Given the description of an element on the screen output the (x, y) to click on. 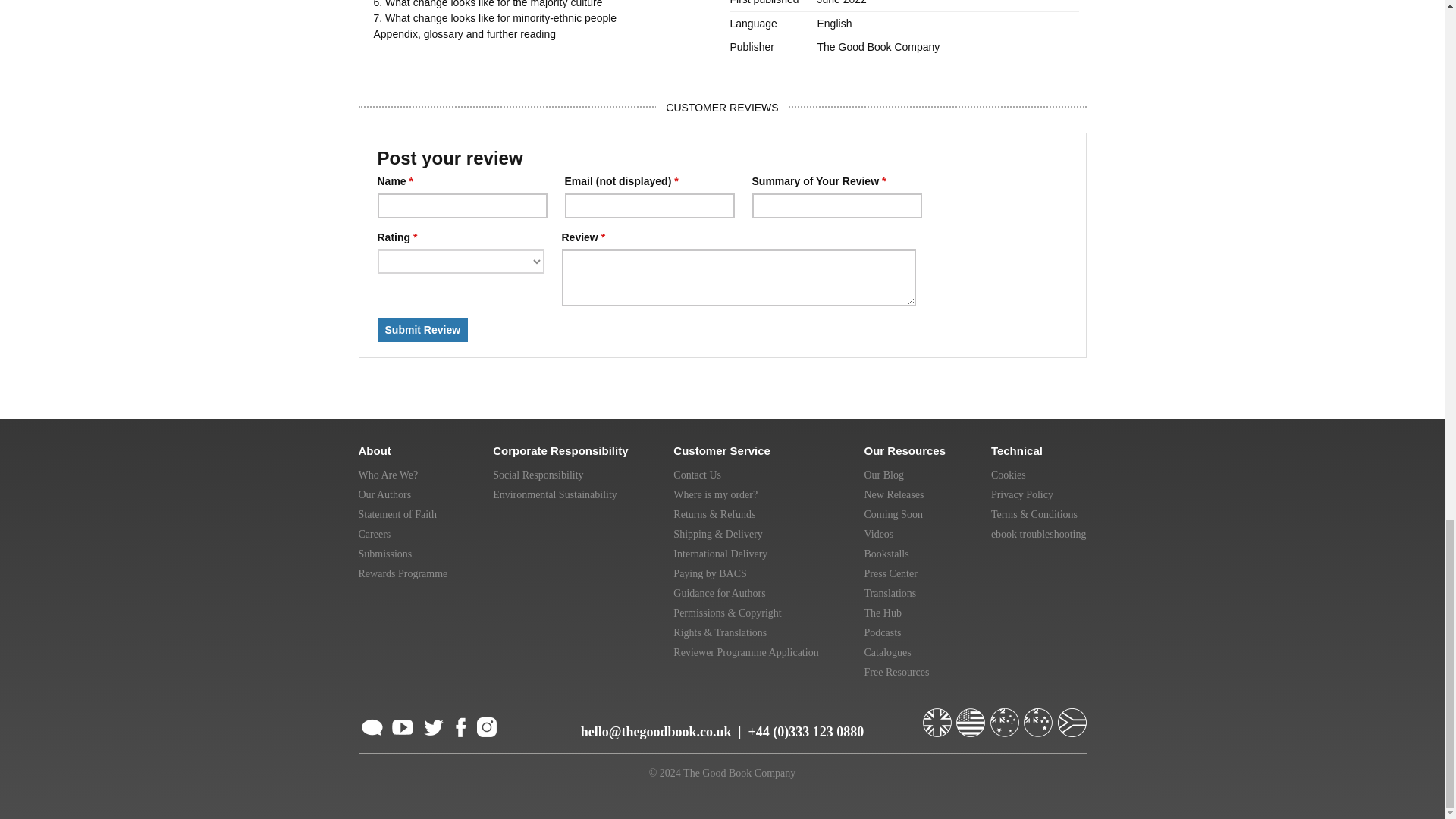
Go to US Website (972, 715)
Go to UK Website (937, 715)
Go to Australia Website (1006, 715)
Go to New Zealand Website (1039, 715)
Go to South Africa Website (1071, 715)
Subscribe to feed (371, 725)
Submit Review (422, 329)
